Given the description of an element on the screen output the (x, y) to click on. 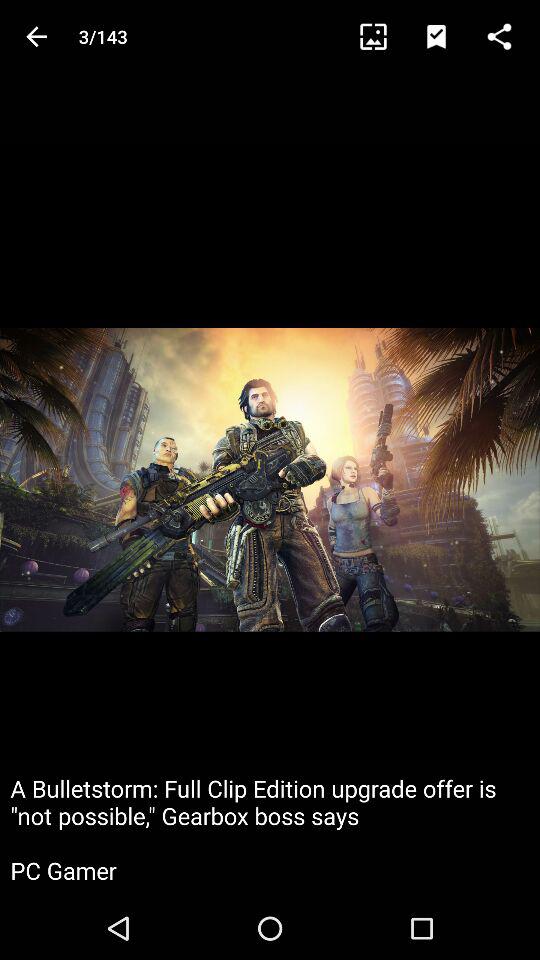
go back go to previous (36, 36)
